Given the description of an element on the screen output the (x, y) to click on. 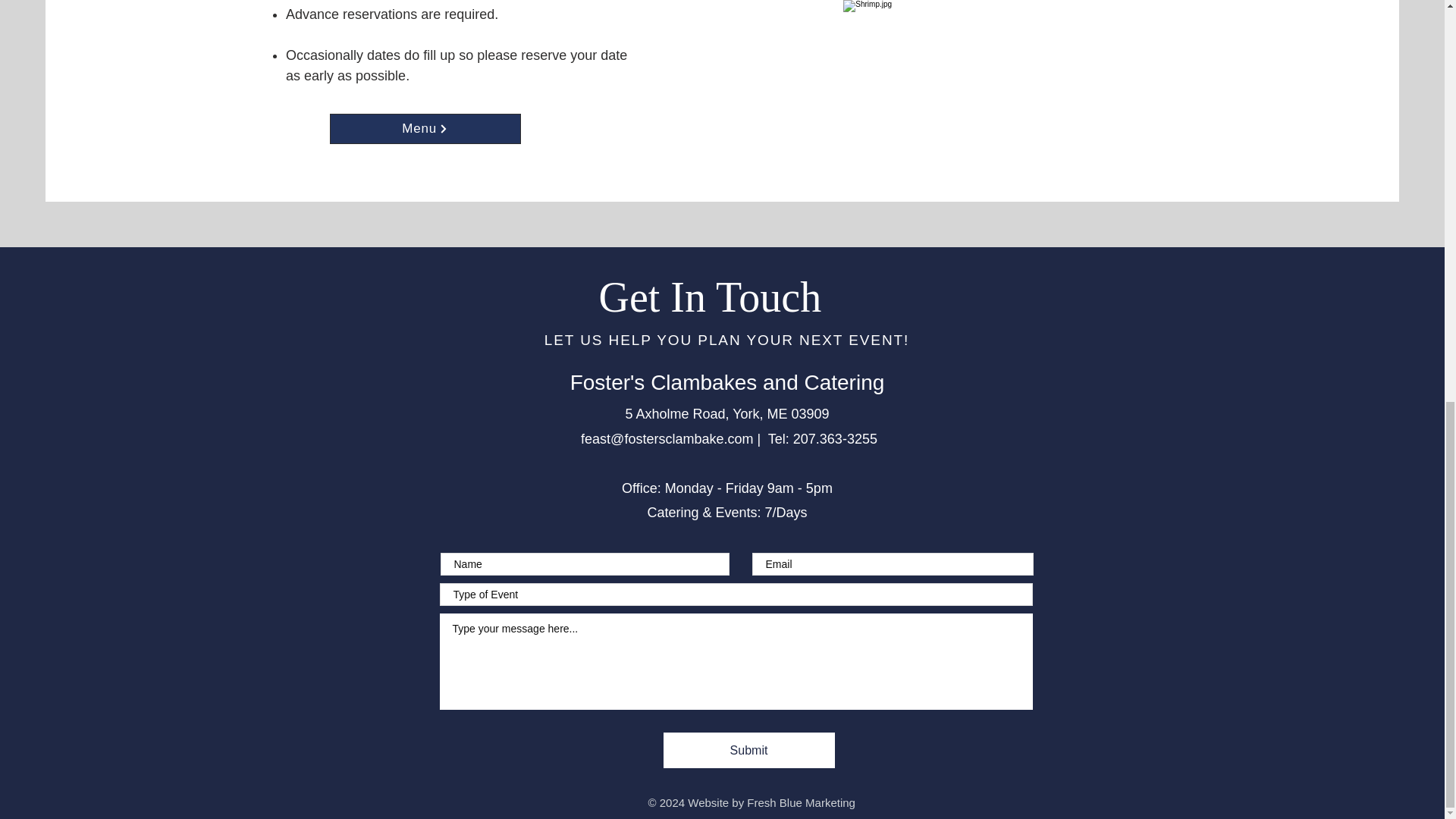
Submit (748, 750)
Menu (425, 128)
